Given the description of an element on the screen output the (x, y) to click on. 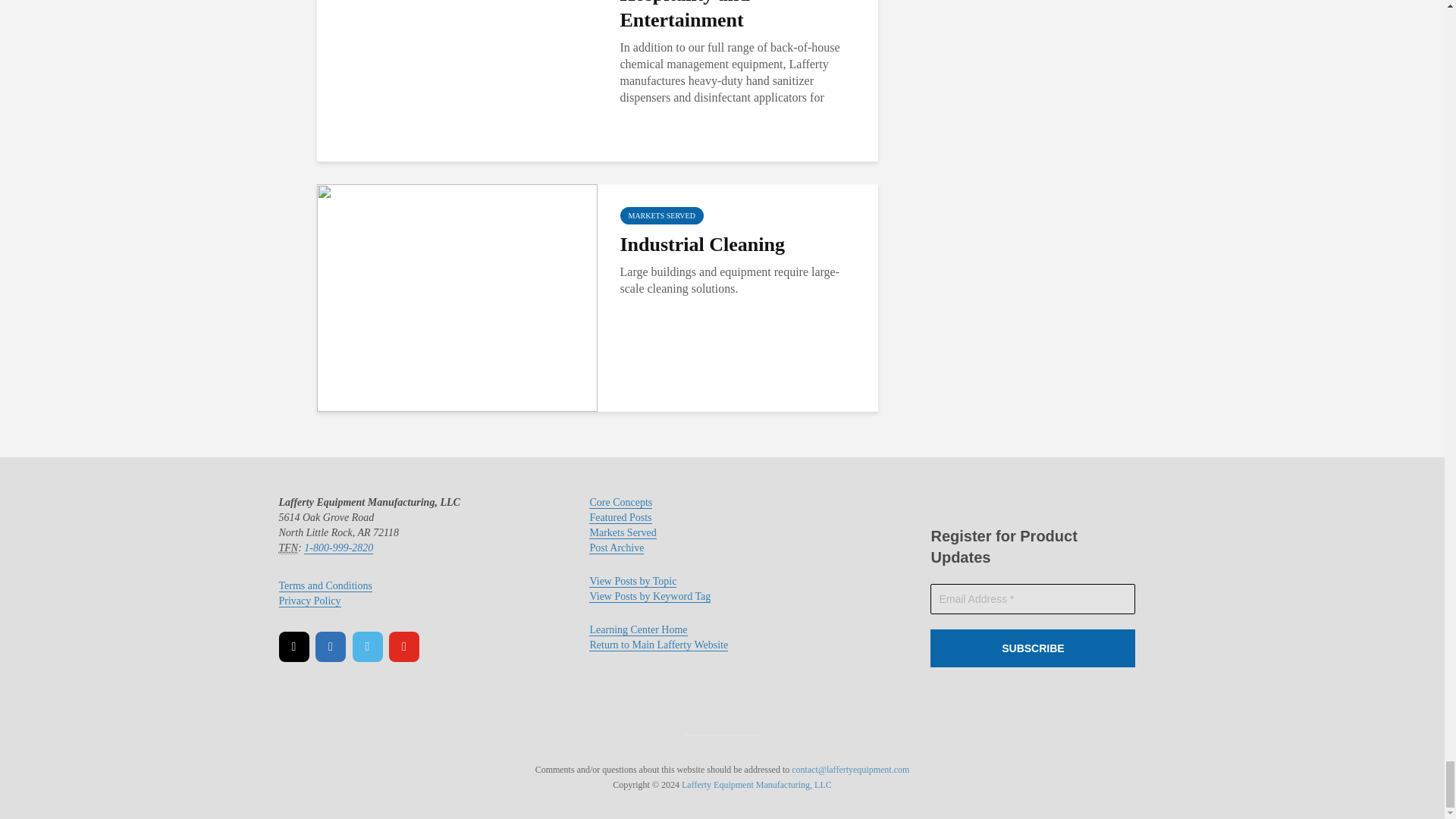
Mail (293, 646)
Toll free number (288, 548)
Privacy Policy  (309, 601)
Industrial Cleaning (456, 296)
